Given the description of an element on the screen output the (x, y) to click on. 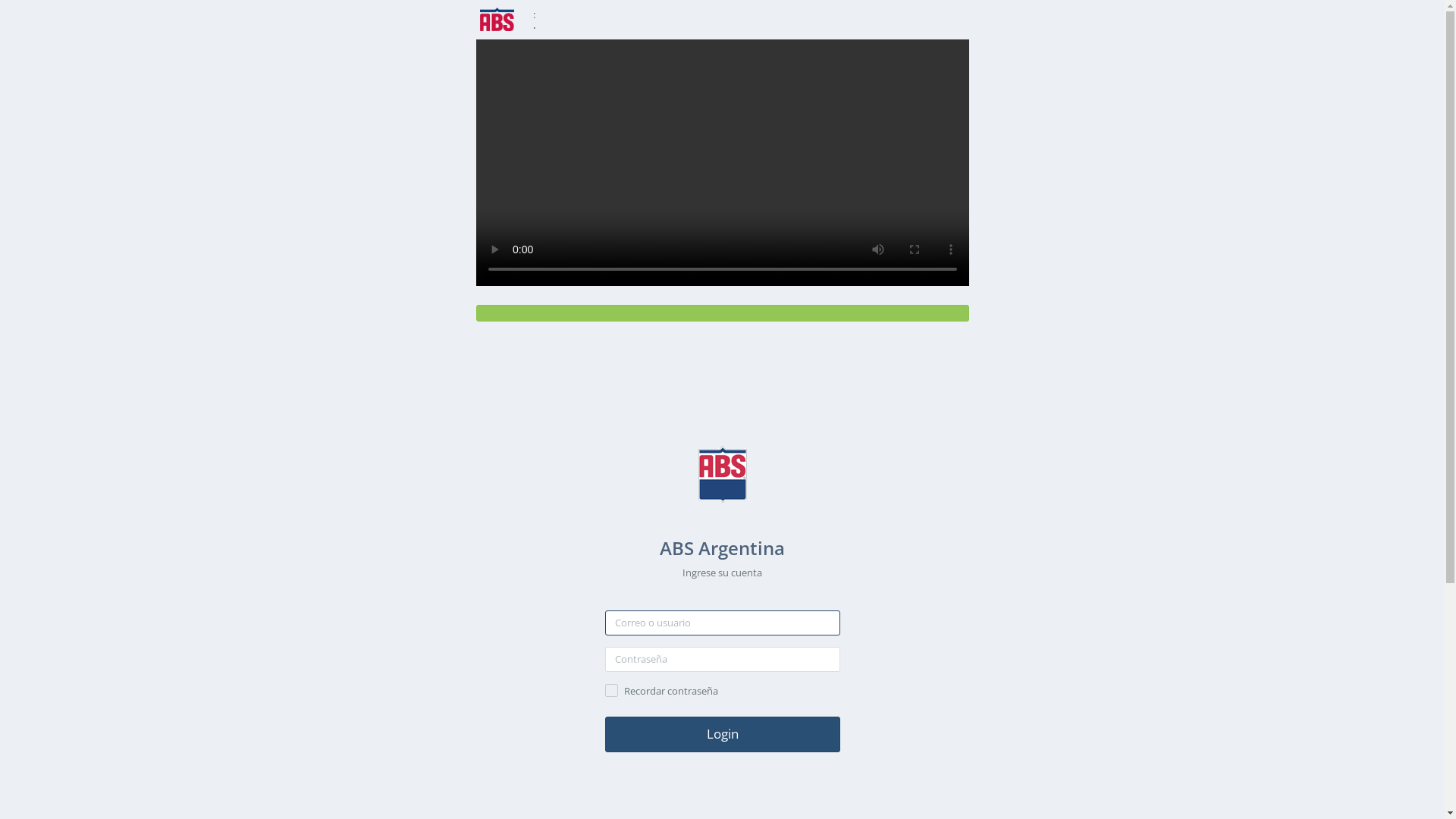
Login Element type: text (722, 733)
